Given the description of an element on the screen output the (x, y) to click on. 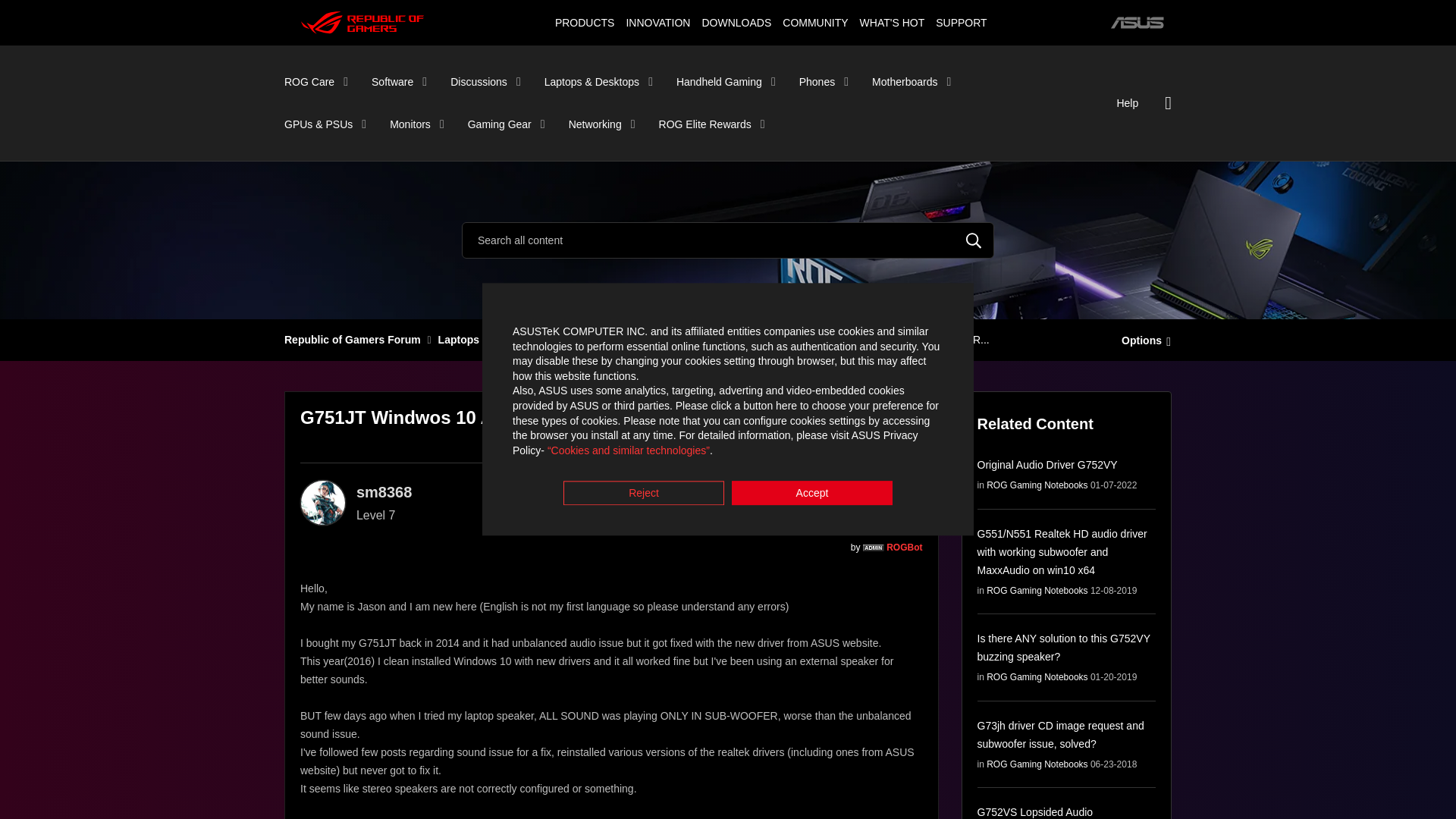
Show option menu (1142, 339)
Search (973, 239)
PRODUCTS (584, 22)
DOWNLOADS (736, 22)
Community Admin (873, 547)
INNOVATION (657, 22)
sm8368 (322, 502)
COMMUNITY (815, 22)
Search (727, 239)
Search (973, 239)
